Given the description of an element on the screen output the (x, y) to click on. 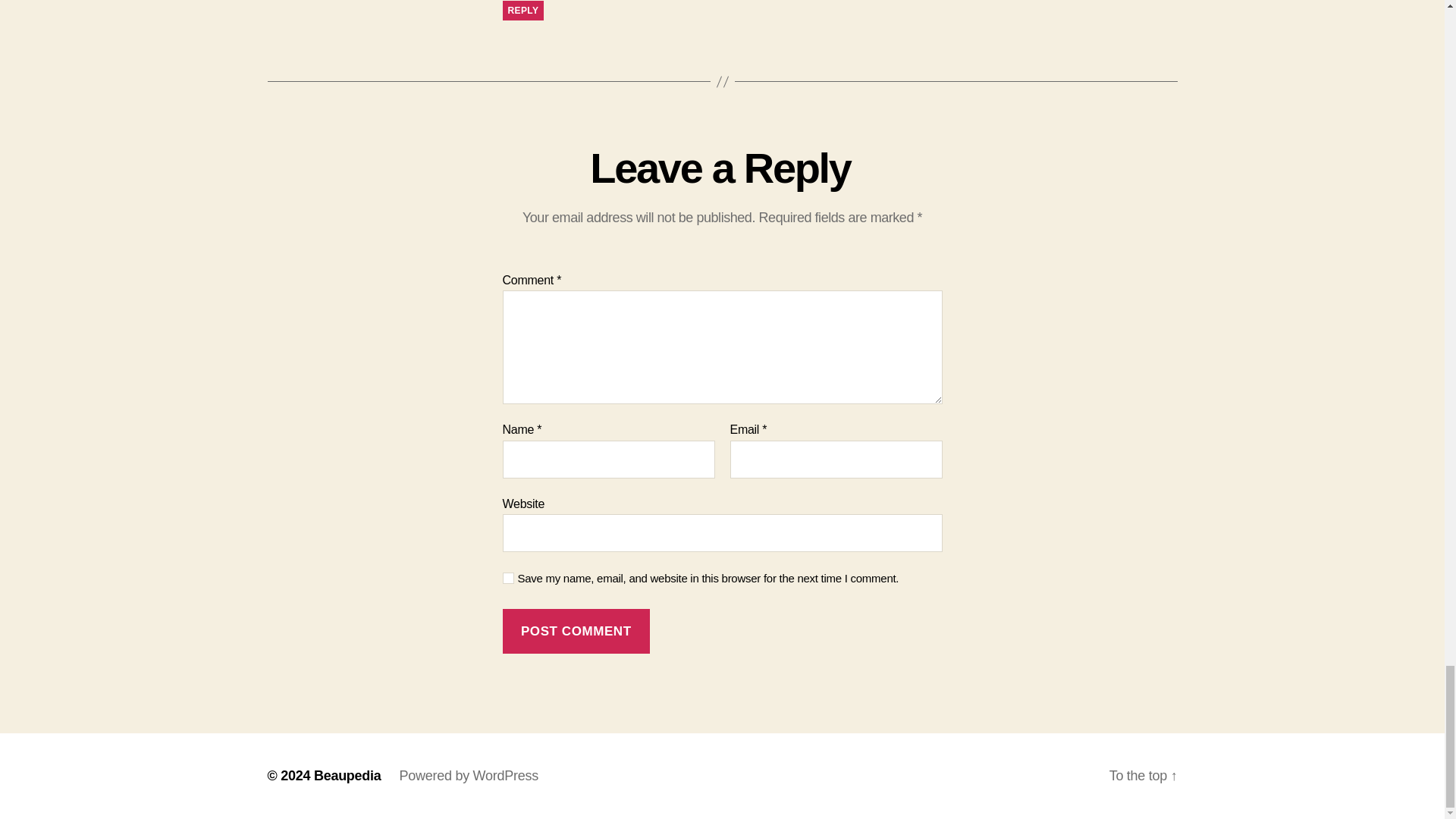
yes (507, 577)
REPLY (522, 10)
REPLY (522, 10)
Beaupedia (347, 775)
Post Comment (575, 631)
Powered by WordPress (468, 775)
Post Comment (575, 631)
